Given the description of an element on the screen output the (x, y) to click on. 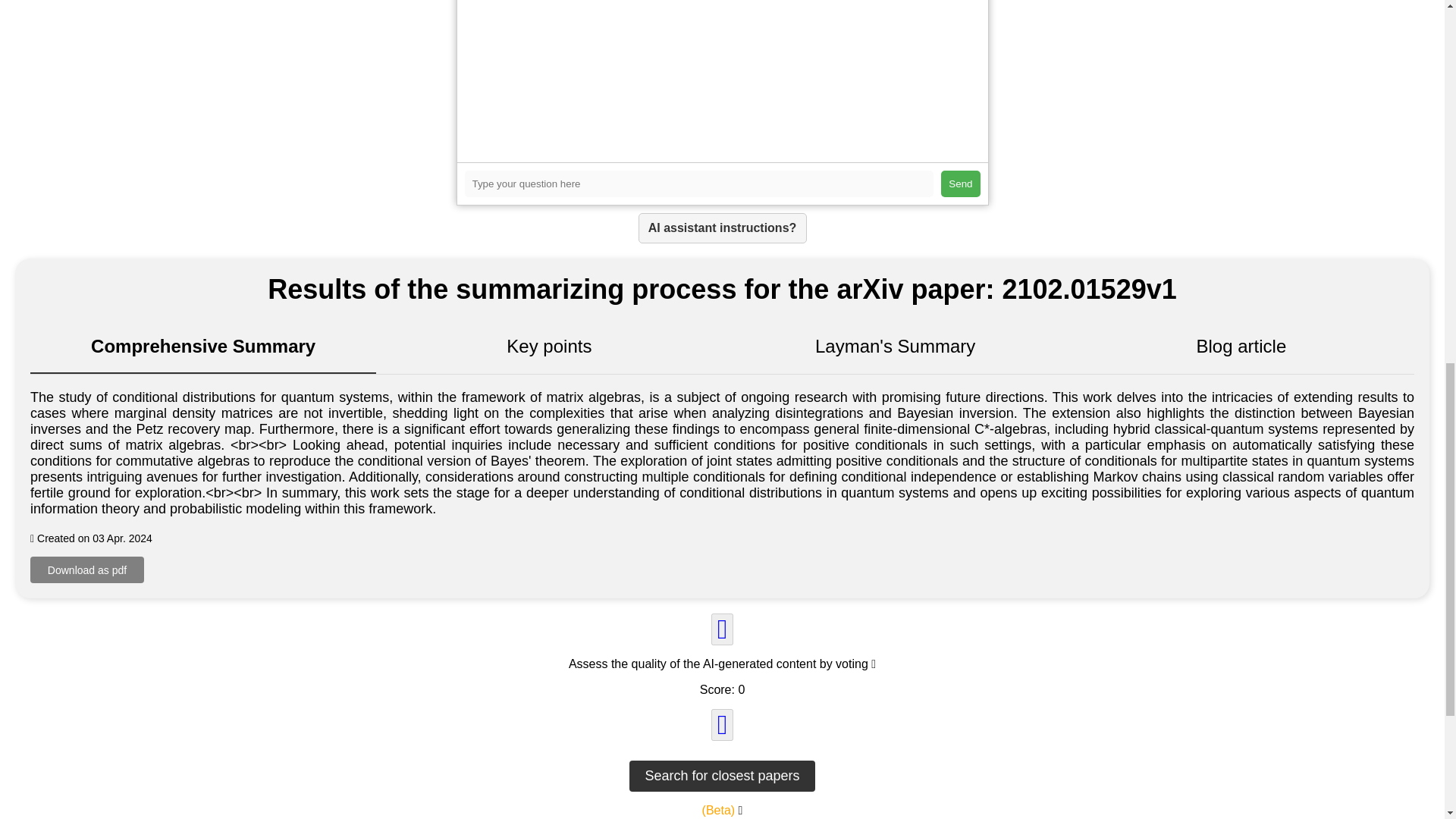
AI assistant instructions? (722, 227)
Search for closest papers (720, 775)
Download as pdf (87, 569)
Send (959, 183)
Search for closest papers (720, 775)
Download as pdf (87, 569)
